Given the description of an element on the screen output the (x, y) to click on. 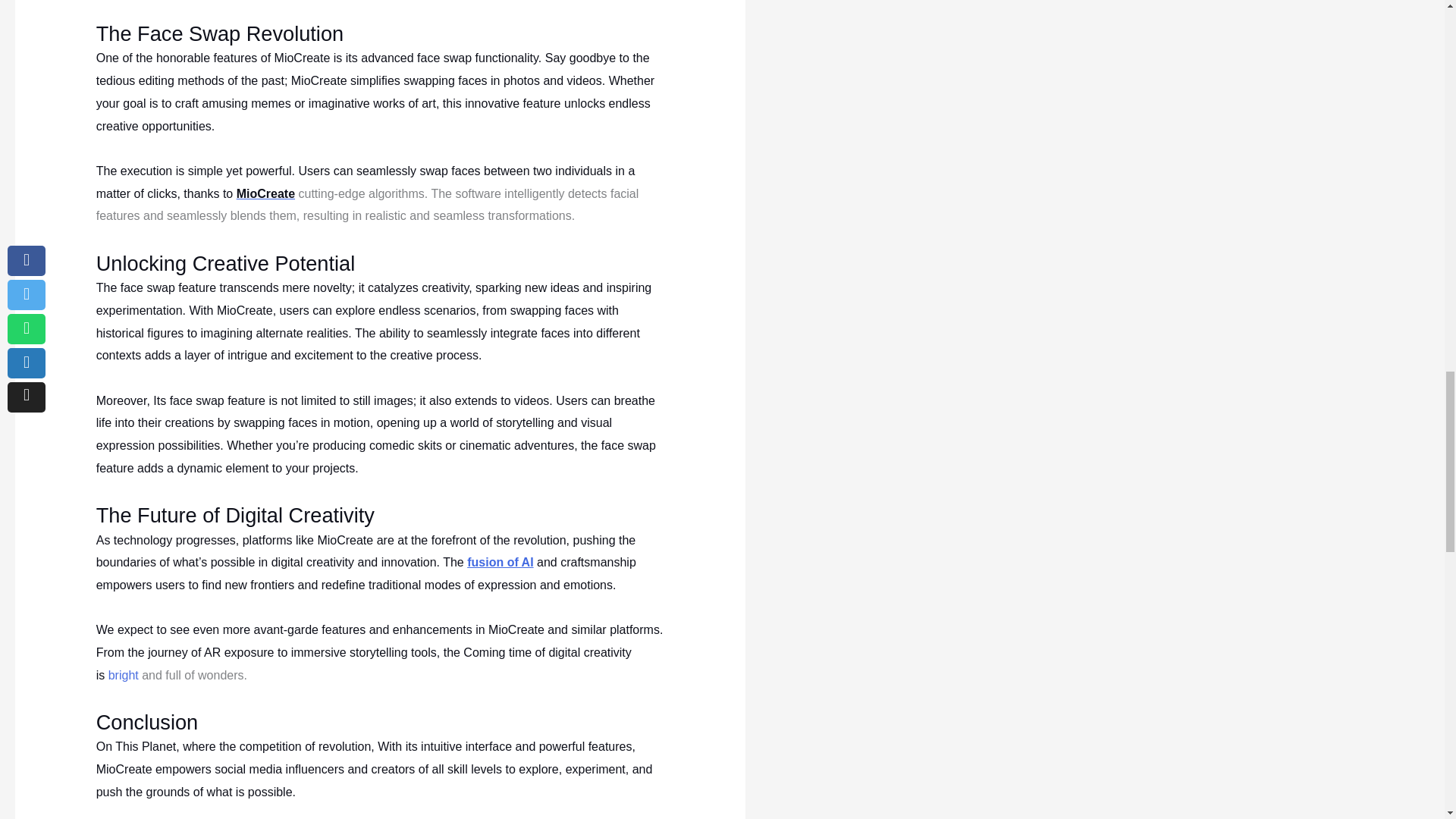
MioCreate (265, 193)
fusion of AI (499, 562)
